Given the description of an element on the screen output the (x, y) to click on. 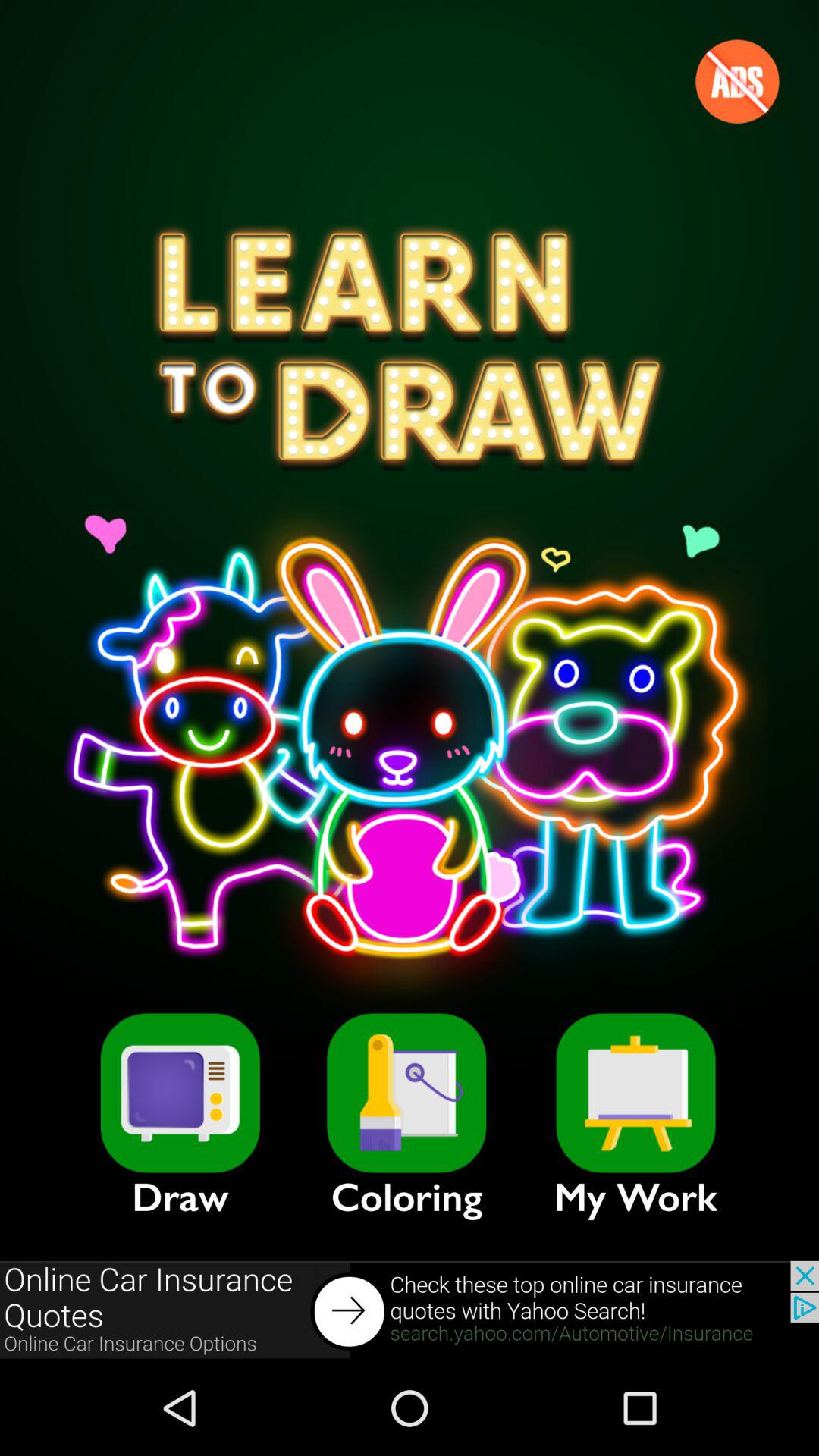
view work (635, 1092)
